Given the description of an element on the screen output the (x, y) to click on. 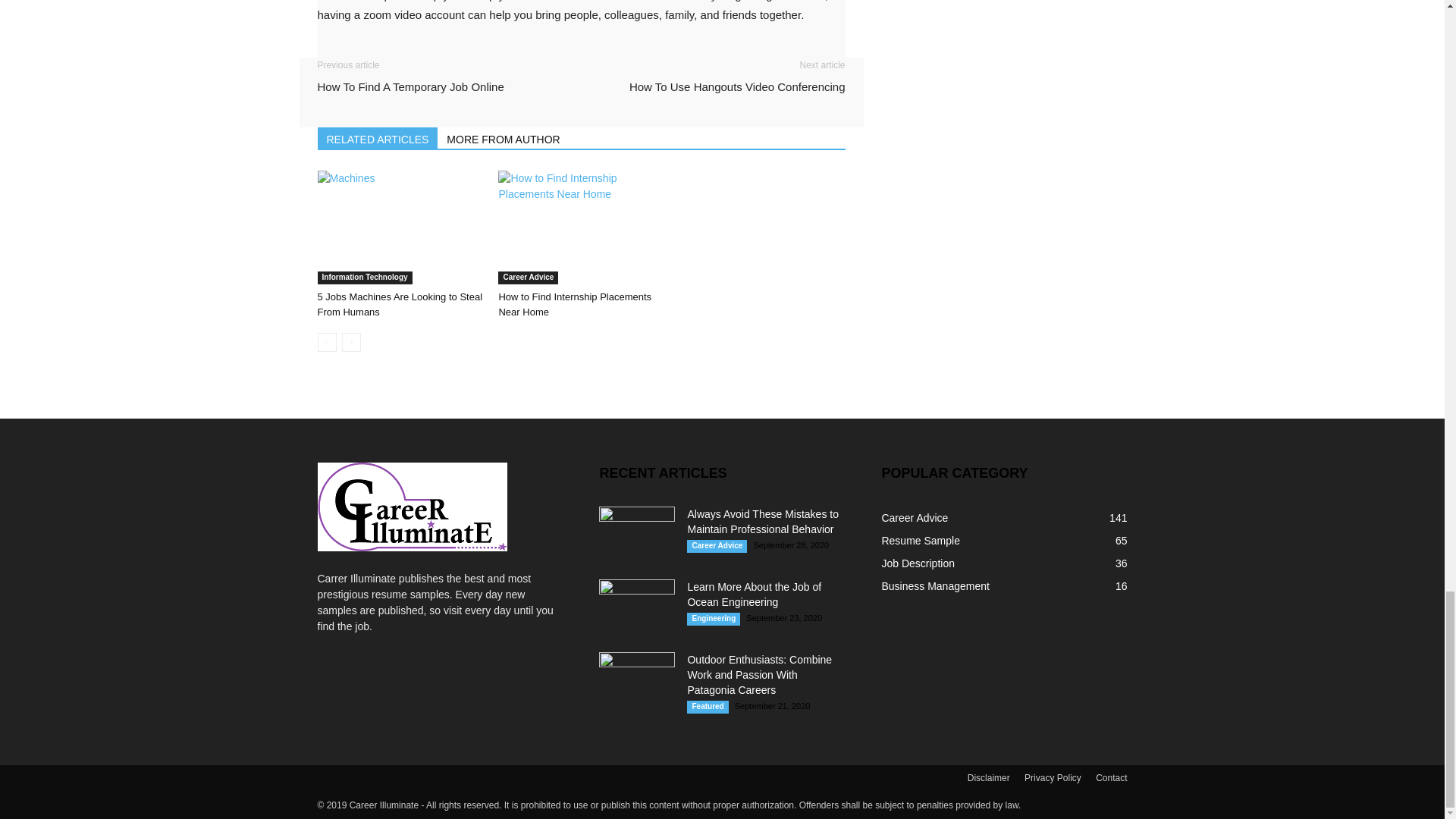
How to Find Internship Placements Near Home (573, 304)
Career Illuminate (411, 506)
MORE FROM AUTHOR (503, 137)
Information Technology (364, 277)
5 Jobs Machines Are Looking to Steal From Humans (399, 304)
How to Find Internship Placements Near Home (580, 227)
How to Find Internship Placements Near Home (573, 304)
RELATED ARTICLES (377, 137)
How To Find A Temporary Job Online (410, 86)
How To Use Hangouts Video Conferencing (736, 86)
